Given the description of an element on the screen output the (x, y) to click on. 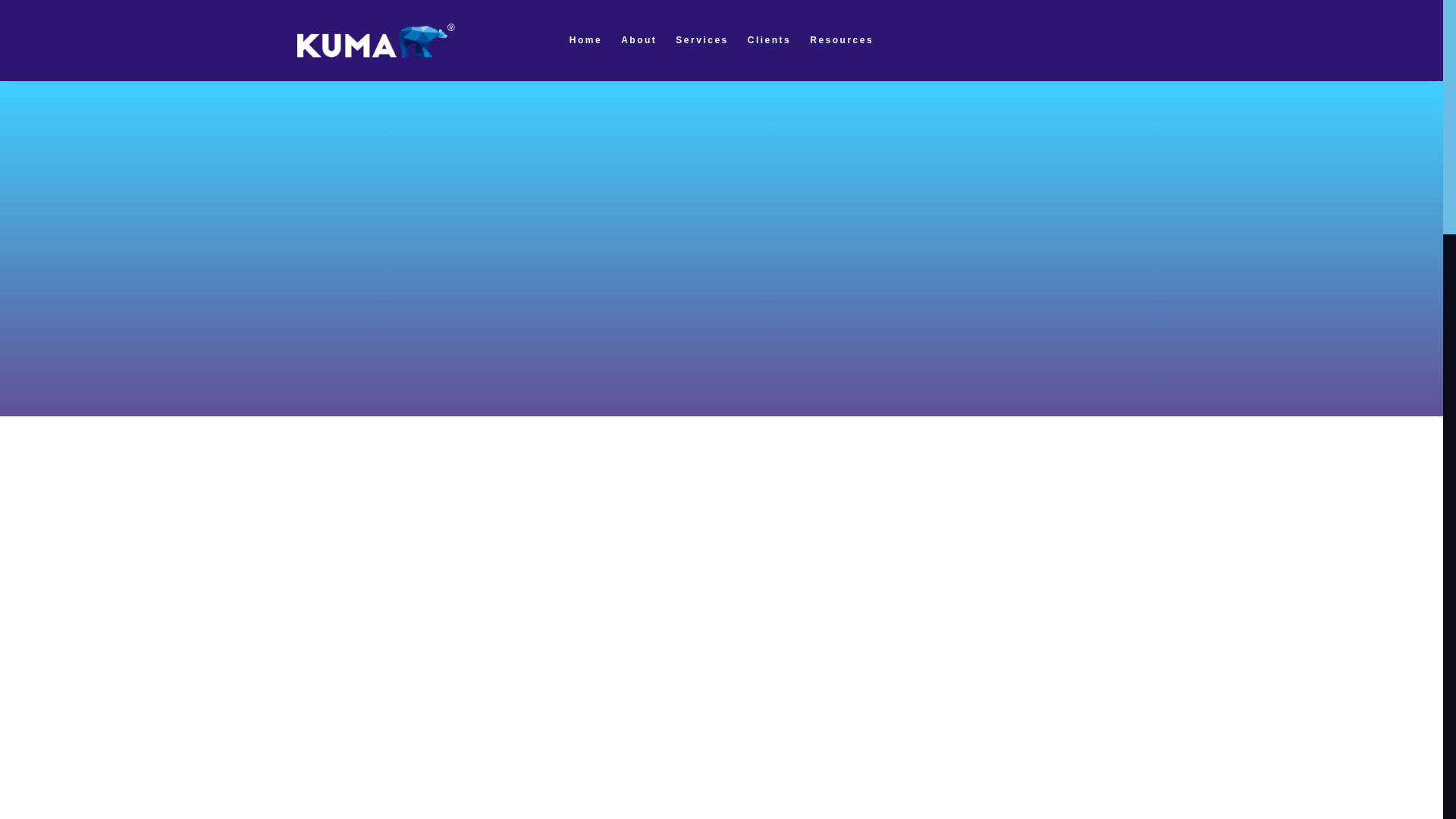
Services (701, 39)
Home (585, 39)
About (722, 39)
